Given the description of an element on the screen output the (x, y) to click on. 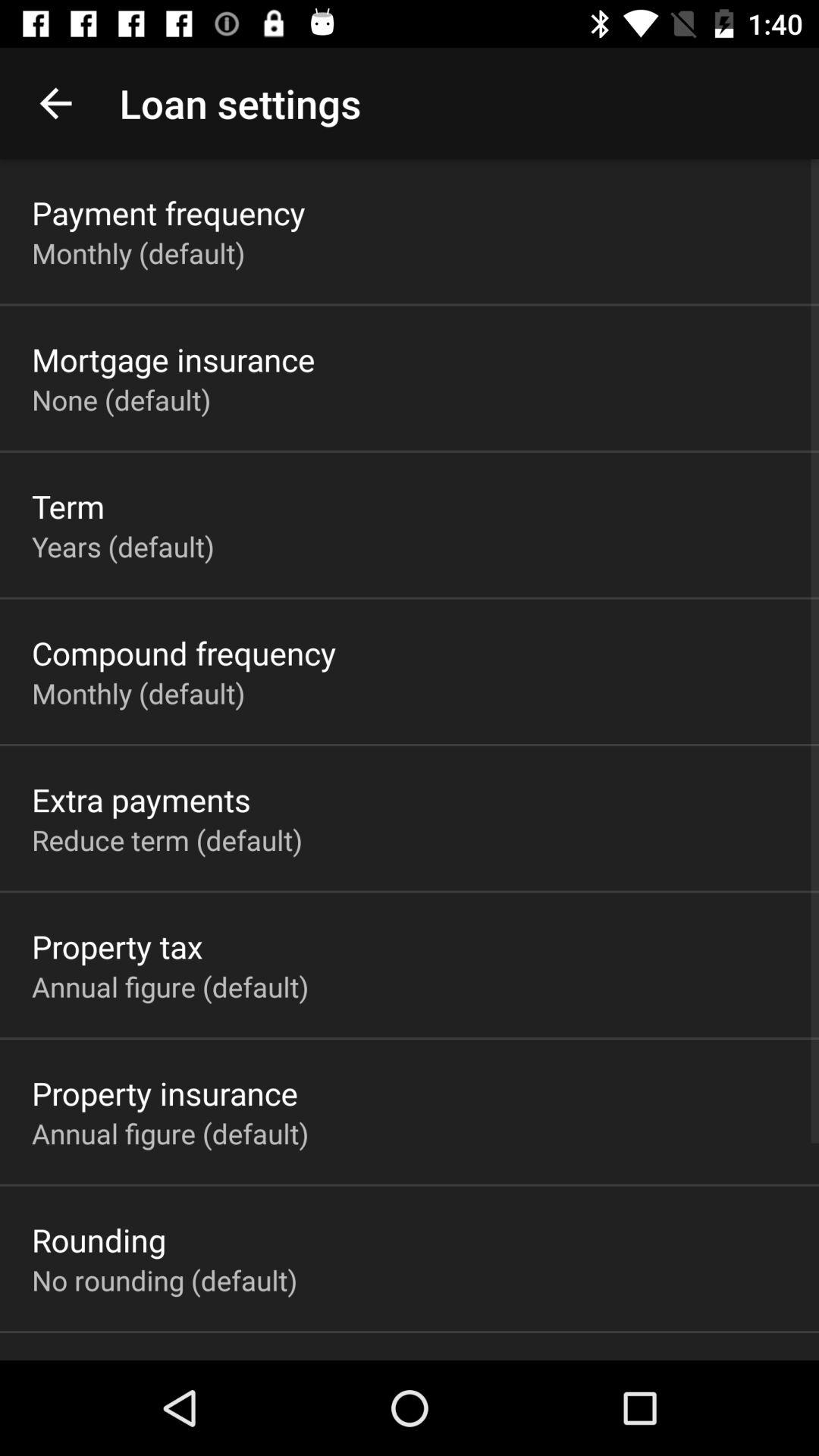
open years (default) (122, 546)
